Given the description of an element on the screen output the (x, y) to click on. 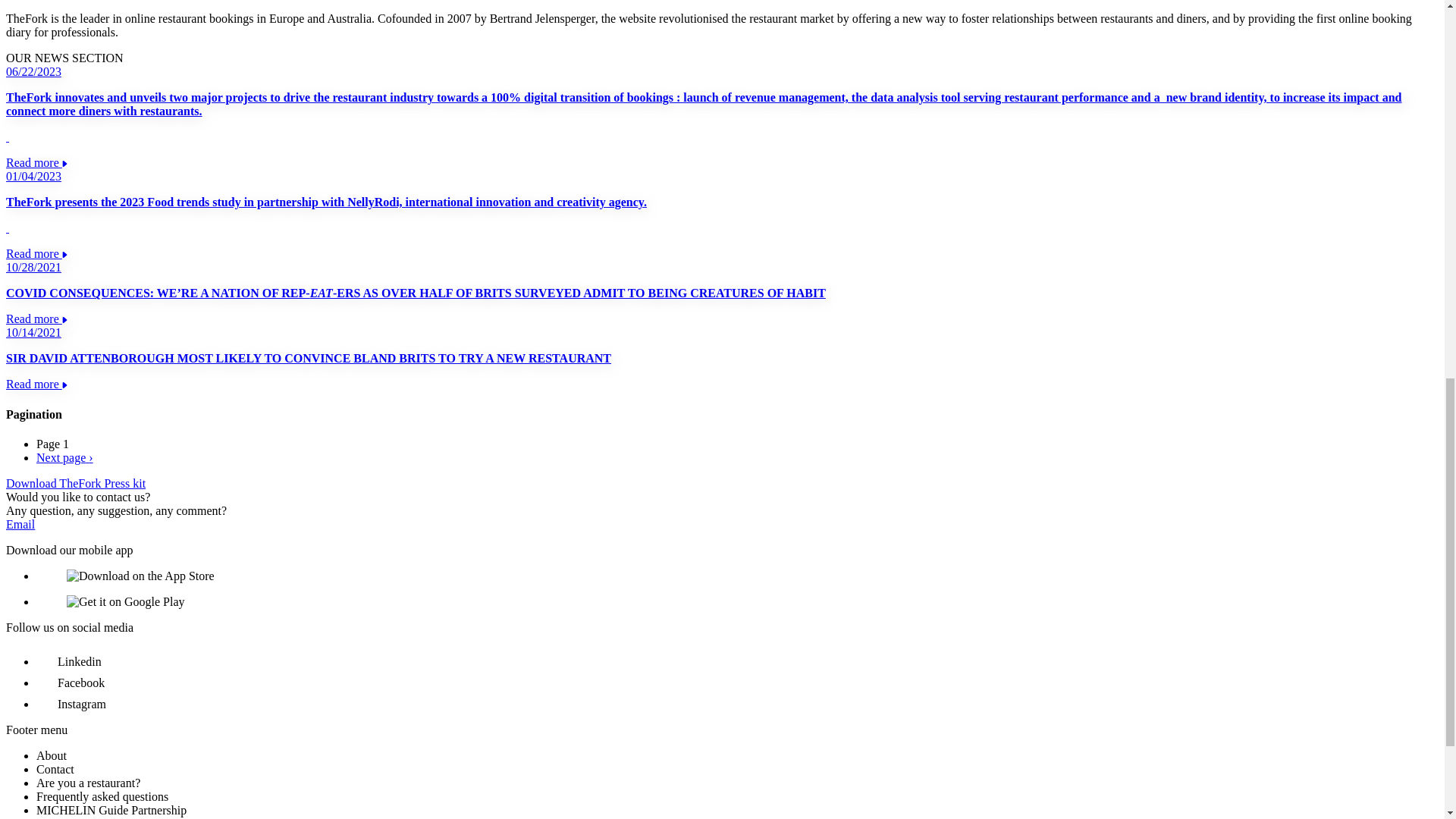
Go to next page (64, 457)
Email (19, 523)
Download TheFork Press kit (75, 482)
